Given the description of an element on the screen output the (x, y) to click on. 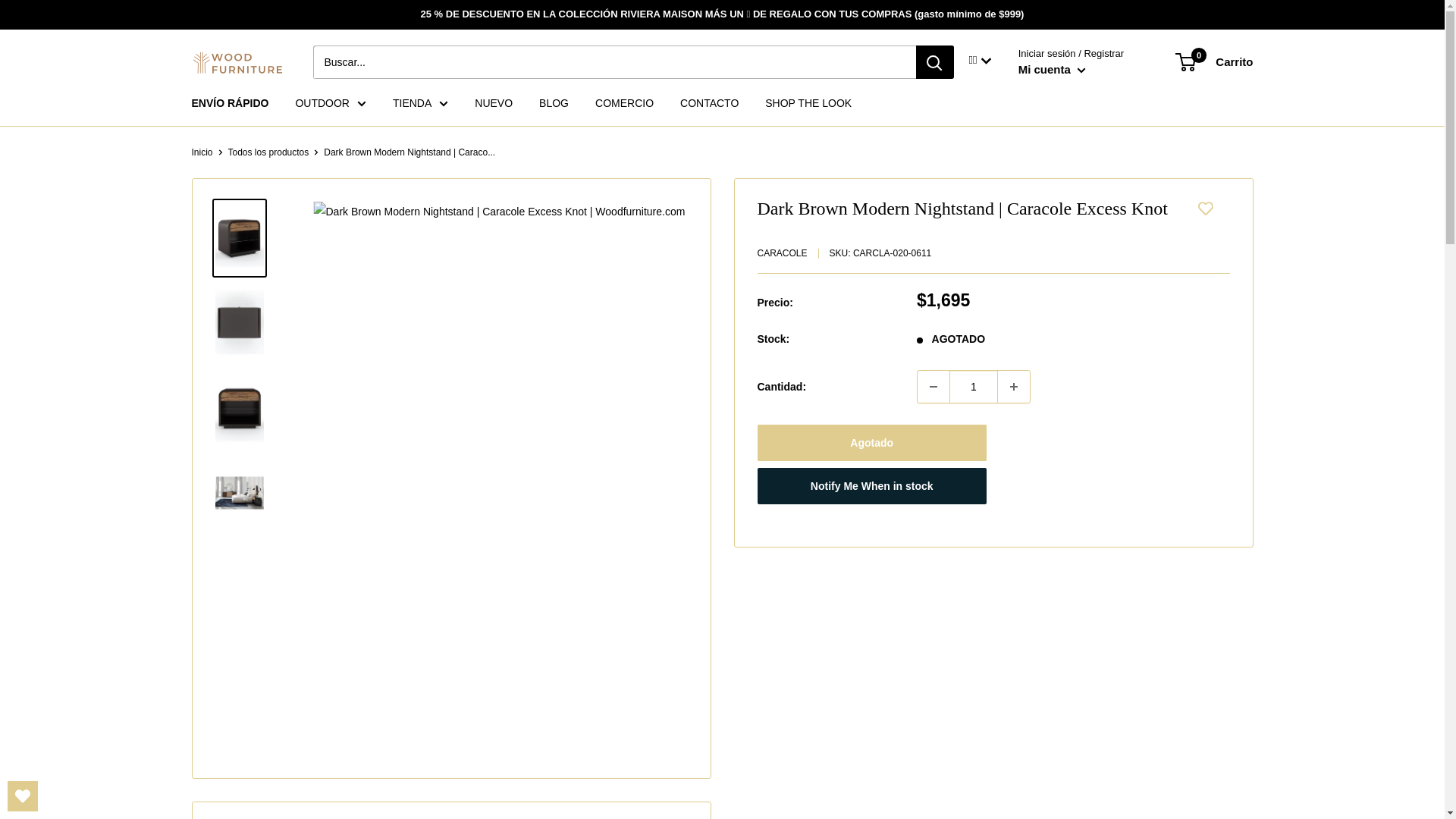
Disminuir la cantidad en 1 (933, 386)
Aumentar la cantidad en 1 (1013, 386)
Add to wishlist (1197, 208)
1 (973, 386)
